Given the description of an element on the screen output the (x, y) to click on. 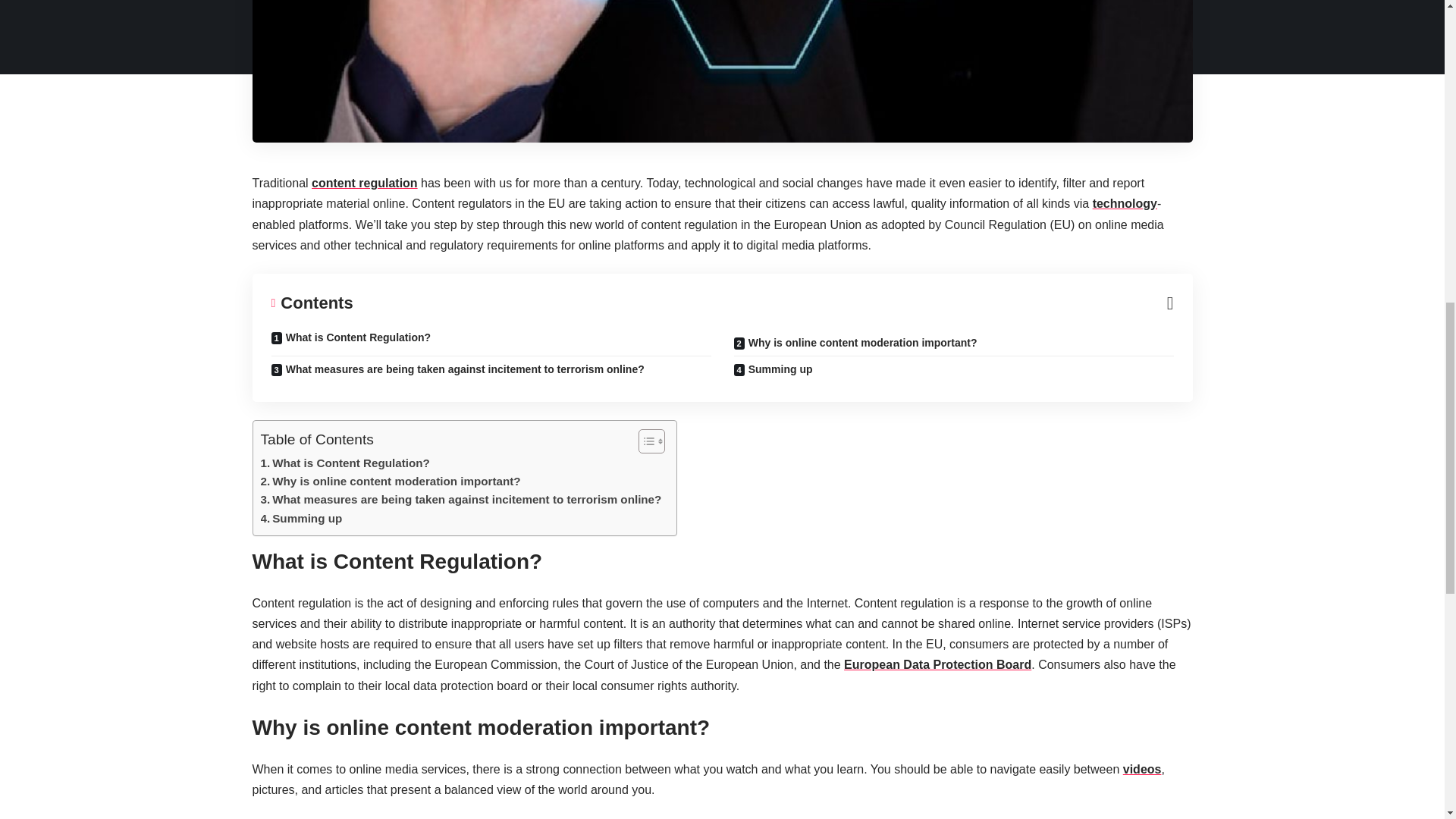
Summing up (301, 518)
Why is online content moderation important? (390, 481)
What is Content Regulation? (344, 463)
